Given the description of an element on the screen output the (x, y) to click on. 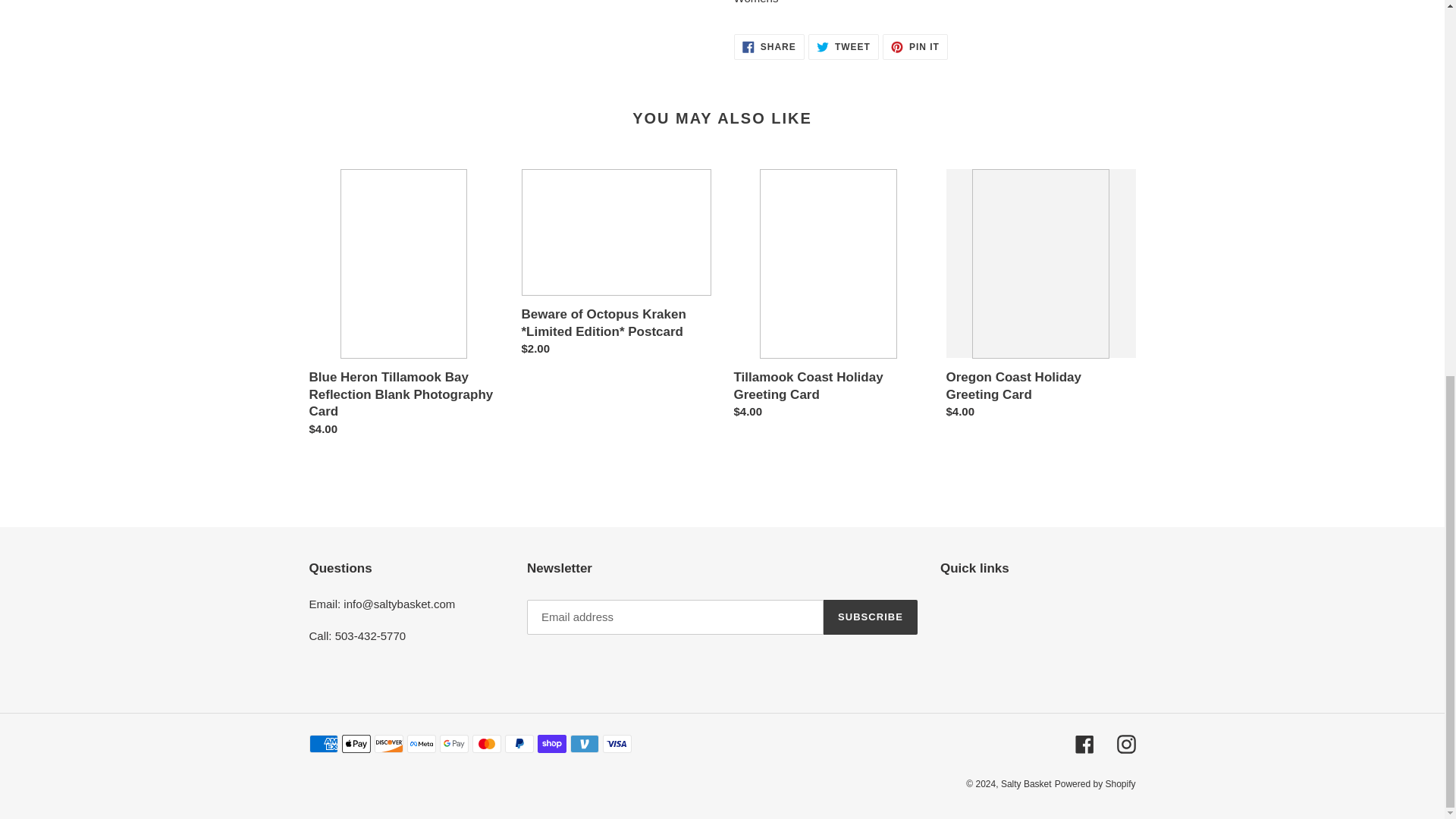
Powered by Shopify (1094, 783)
Facebook (1084, 743)
SUBSCRIBE (914, 45)
Salty Basket (870, 616)
Instagram (1026, 783)
